Given the description of an element on the screen output the (x, y) to click on. 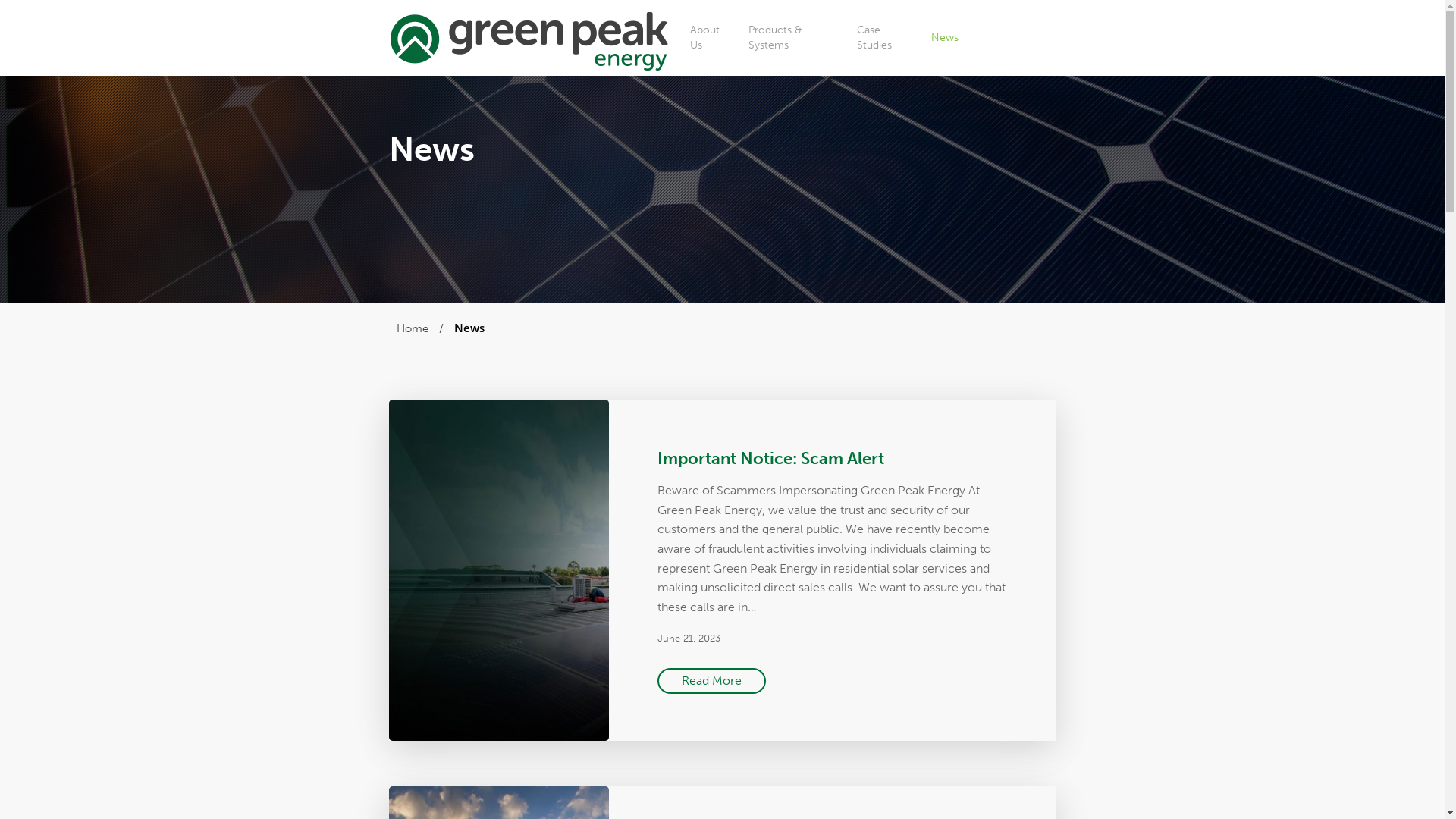
Contact Us Element type: text (1014, 37)
About Us Element type: text (711, 37)
Case Studies Element type: text (886, 37)
Products & Systems Element type: text (794, 37)
Important Notice: Scam Alert Element type: text (770, 458)
Home Element type: text (411, 328)
News Element type: text (944, 37)
